Given the description of an element on the screen output the (x, y) to click on. 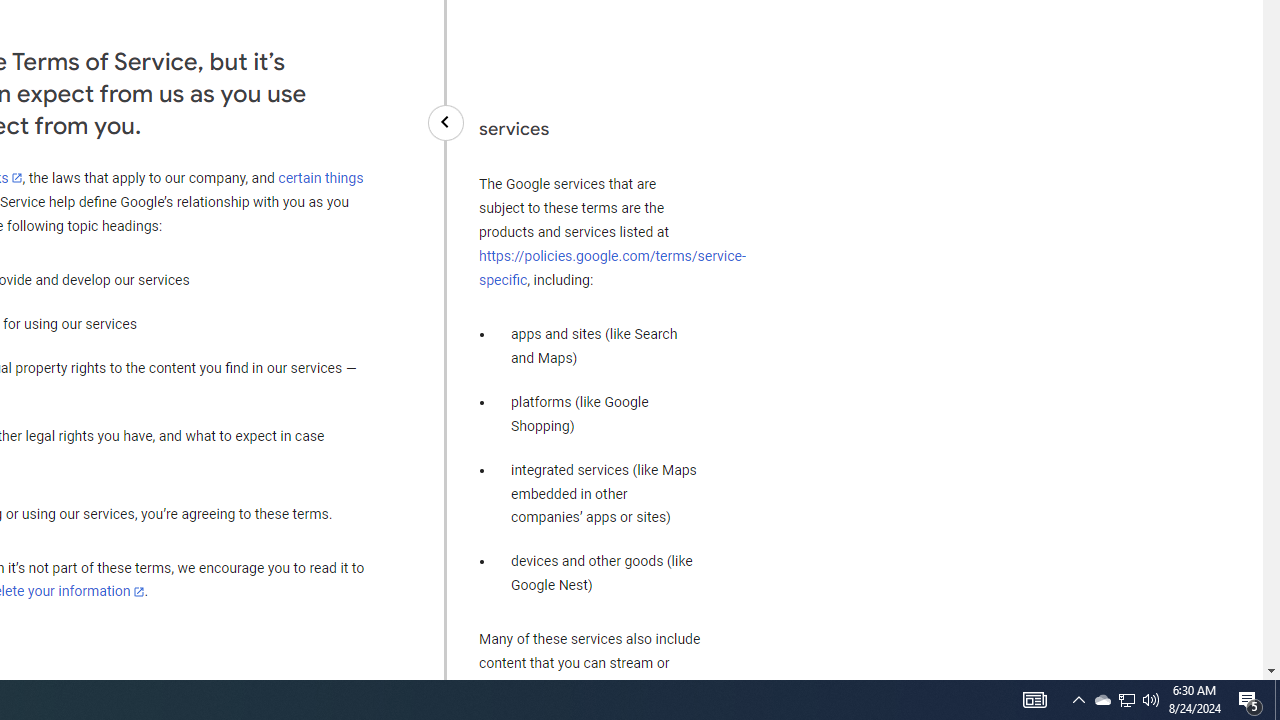
https://policies.google.com/terms/service-specific (612, 267)
